Given the description of an element on the screen output the (x, y) to click on. 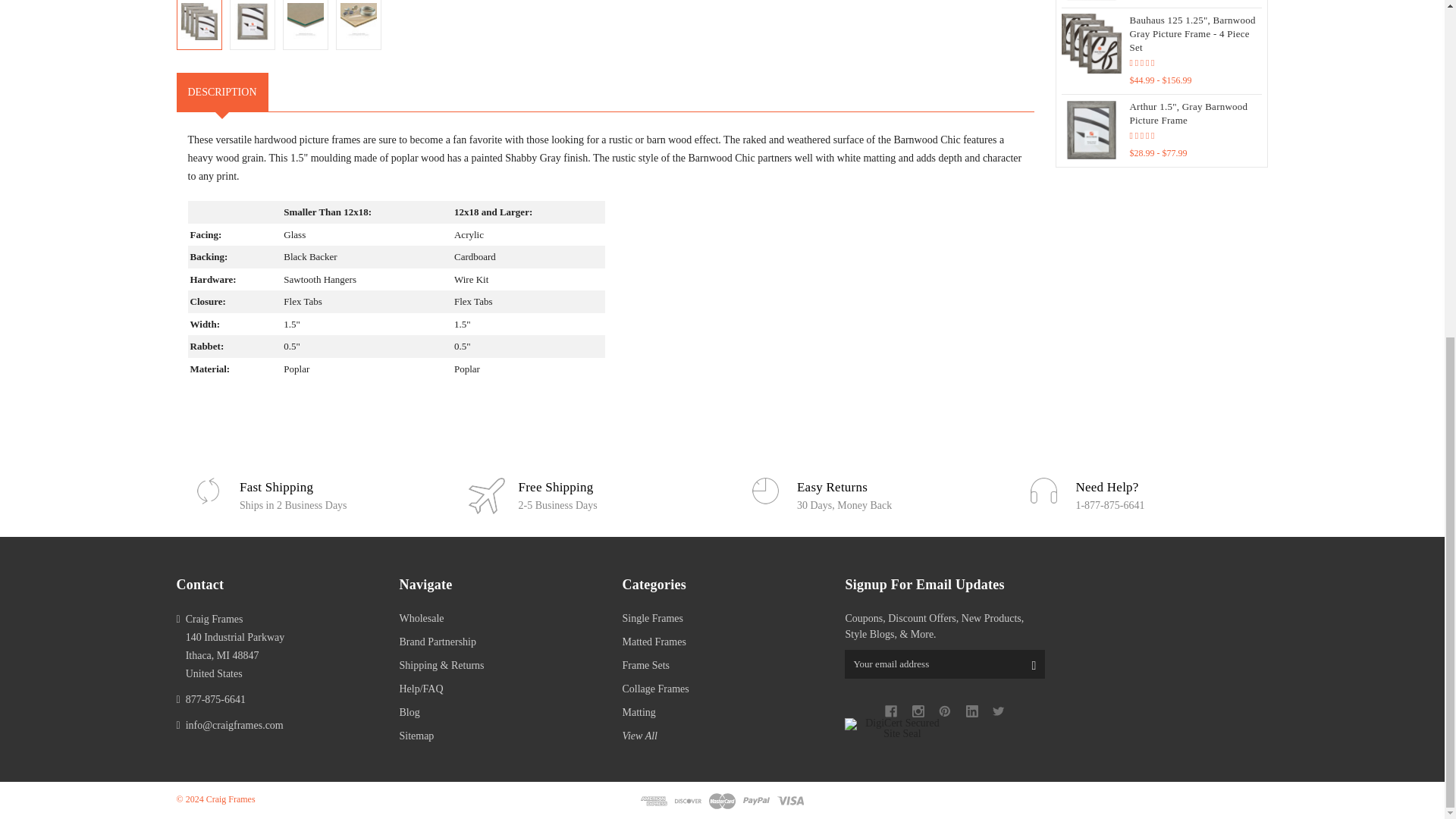
Arthur 1.5", Gray Barnwood Matted Picture Frame (1091, 0)
Barnwood Chic 1.5", Shabby Gray Picture Frames - 4 Piece Set (358, 21)
Barnwood Chic 1.5", Shabby Gray Picture Frames - 4 Piece Set (304, 21)
Barnwood Chic 1.5", Shabby Gray Picture Frames - 4 Piece Set (198, 21)
Barnwood Chic 1.5", Shabby Gray Picture Frames - 4 Piece Set (252, 21)
Bauhaus 125 1.25", Barnwood Gray Picture Frame - 4 Piece Set (1091, 43)
Arthur 1.5", Gray Barnwood Picture Frame (1091, 129)
